Given the description of an element on the screen output the (x, y) to click on. 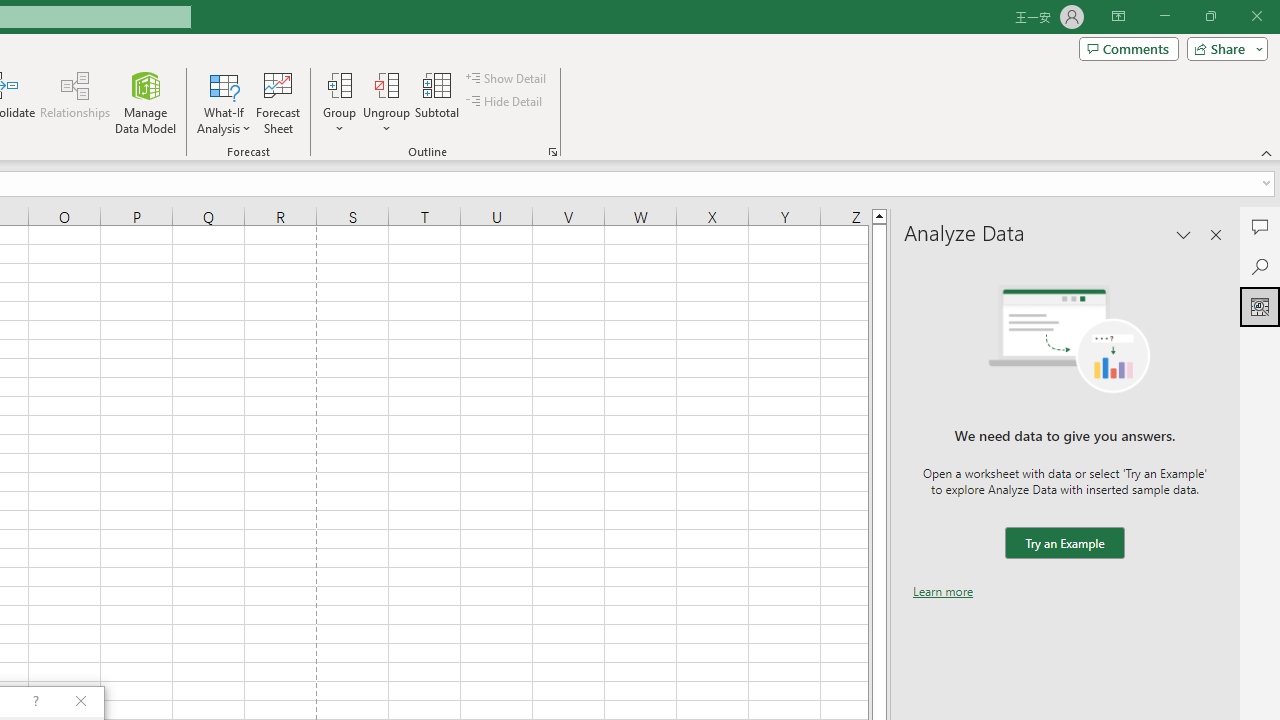
Ungroup... (386, 102)
Group... (339, 84)
Collapse the Ribbon (1267, 152)
Learn more (943, 591)
Ribbon Display Options (1118, 16)
Group... (339, 102)
Share (1223, 48)
Subtotal (437, 102)
Close pane (1215, 234)
Restore Down (1210, 16)
Relationships (75, 102)
Group and Outline Settings (552, 151)
Comments (1128, 48)
Hide Detail (505, 101)
Analyze Data (1260, 306)
